Given the description of an element on the screen output the (x, y) to click on. 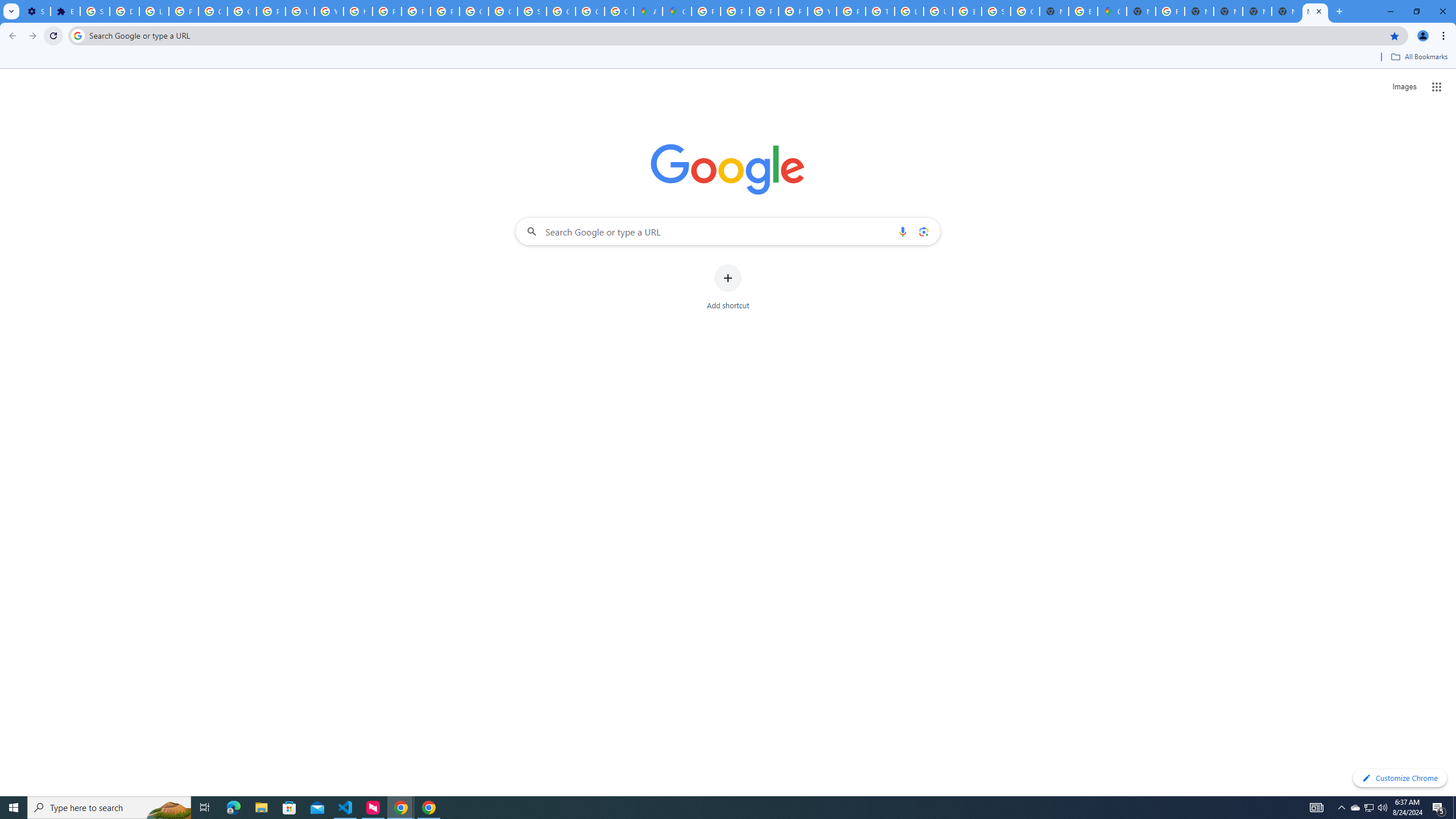
New Tab (1315, 11)
Search for Images  (1403, 87)
Policy Accountability and Transparency - Transparency Center (705, 11)
Google Account Help (212, 11)
YouTube (821, 11)
Explore new street-level details - Google Maps Help (1082, 11)
Google Maps (677, 11)
Search by voice (902, 230)
